Given the description of an element on the screen output the (x, y) to click on. 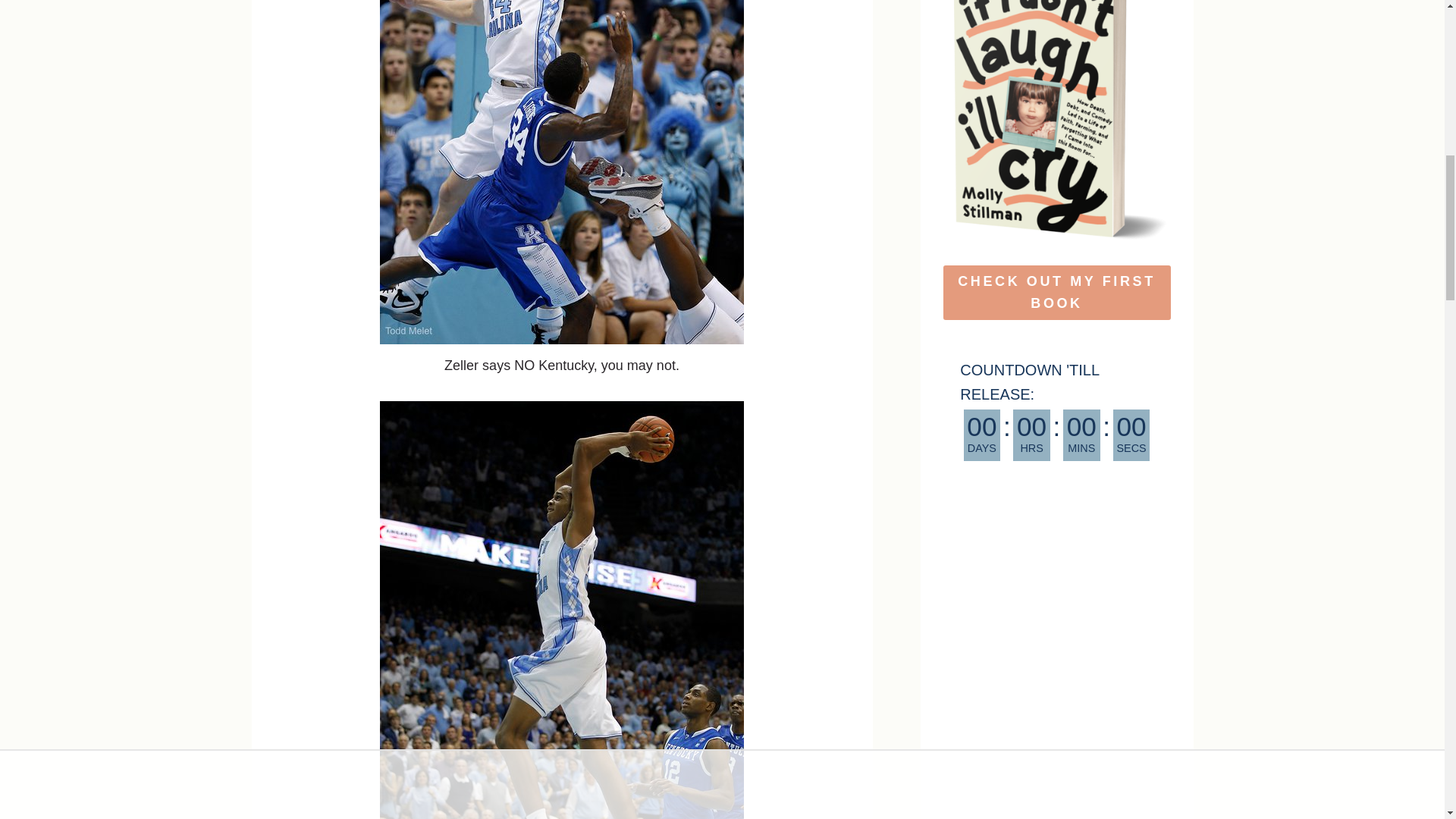
zellerkentucky (562, 171)
